Given the description of an element on the screen output the (x, y) to click on. 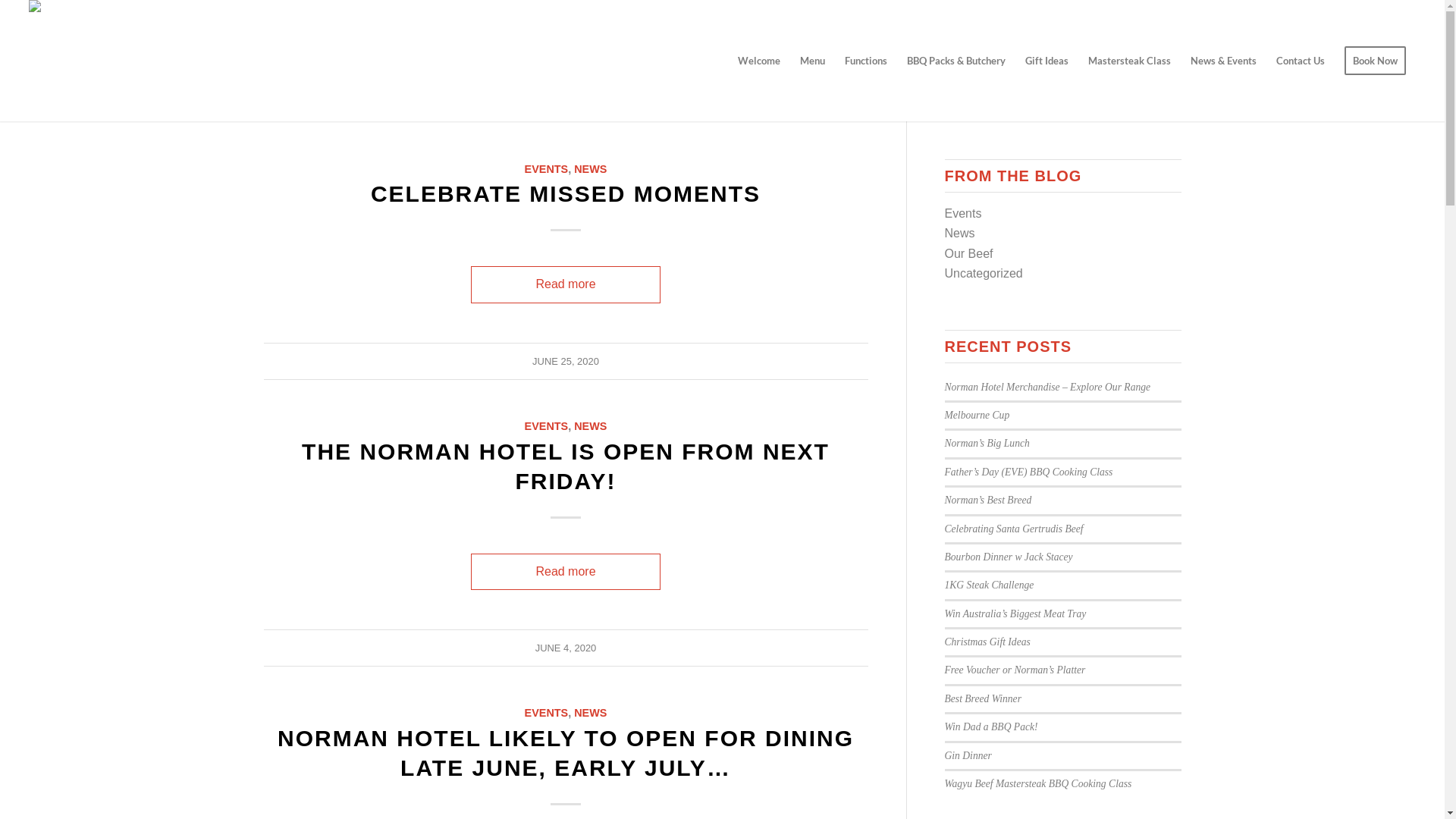
Functions Element type: text (865, 60)
Mastersteak Class Element type: text (1129, 60)
Win Dad a BBQ Pack! Element type: text (991, 726)
Gift Ideas Element type: text (1046, 60)
Melbourne Cup Element type: text (977, 414)
Read more Element type: text (565, 284)
EVENTS Element type: text (546, 169)
Bourbon Dinner w Jack Stacey Element type: text (1008, 556)
News Element type: text (959, 232)
Logo-Norman-Hotel Element type: hover (84, 18)
Wagyu Beef Mastersteak BBQ Cooking Class Element type: text (1038, 783)
Best Breed Winner Element type: text (982, 698)
Logo-Norman-Hotel Element type: hover (84, 60)
EVENTS Element type: text (546, 712)
THE NORMAN HOTEL IS OPEN FROM NEXT FRIDAY! Element type: text (565, 466)
Welcome Element type: text (759, 60)
NEWS Element type: text (590, 712)
Christmas Gift Ideas Element type: text (987, 641)
EVENTS Element type: text (546, 426)
Book Now Element type: text (1374, 60)
CELEBRATE MISSED MOMENTS Element type: text (565, 193)
News & Events Element type: text (1223, 60)
BBQ Packs & Butchery Element type: text (956, 60)
1KG Steak Challenge Element type: text (989, 584)
Contact Us Element type: text (1300, 60)
Gin Dinner Element type: text (967, 755)
NEWS Element type: text (590, 169)
NEWS Element type: text (590, 426)
Menu Element type: text (812, 60)
Read more Element type: text (565, 571)
Uncategorized Element type: text (983, 272)
Our Beef Element type: text (968, 253)
Events Element type: text (963, 213)
Celebrating Santa Gertrudis Beef Element type: text (1013, 528)
